Given the description of an element on the screen output the (x, y) to click on. 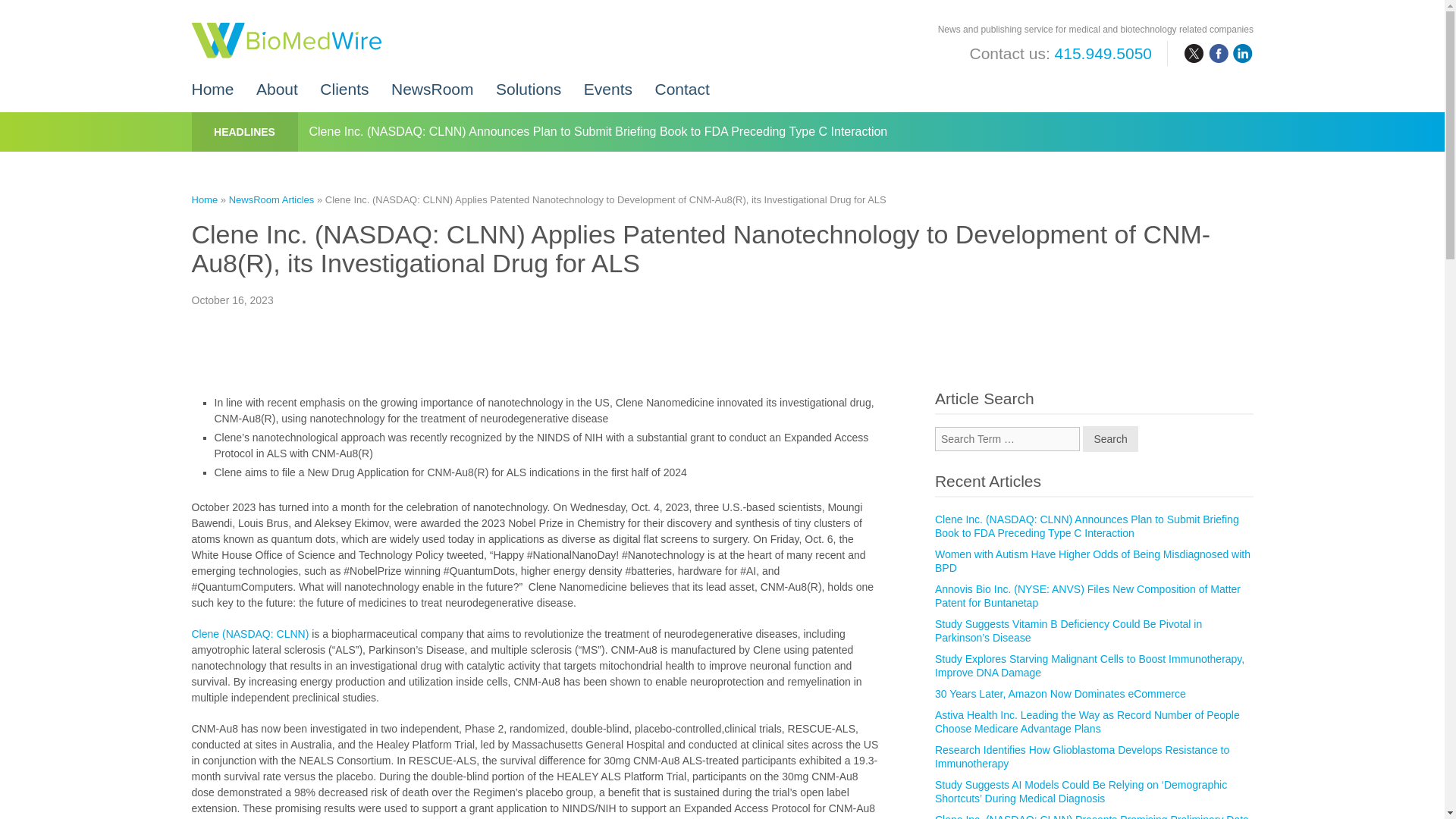
facebook (1218, 53)
twitter (1193, 53)
HEADLINES (244, 132)
Solutions (528, 81)
NewsRoom Articles (271, 199)
linkedin (1242, 53)
Contact (681, 81)
Events (607, 81)
Home (211, 81)
NewsRoom (432, 81)
Home (203, 199)
Clients (344, 81)
Search (1110, 438)
About (277, 81)
